Given the description of an element on the screen output the (x, y) to click on. 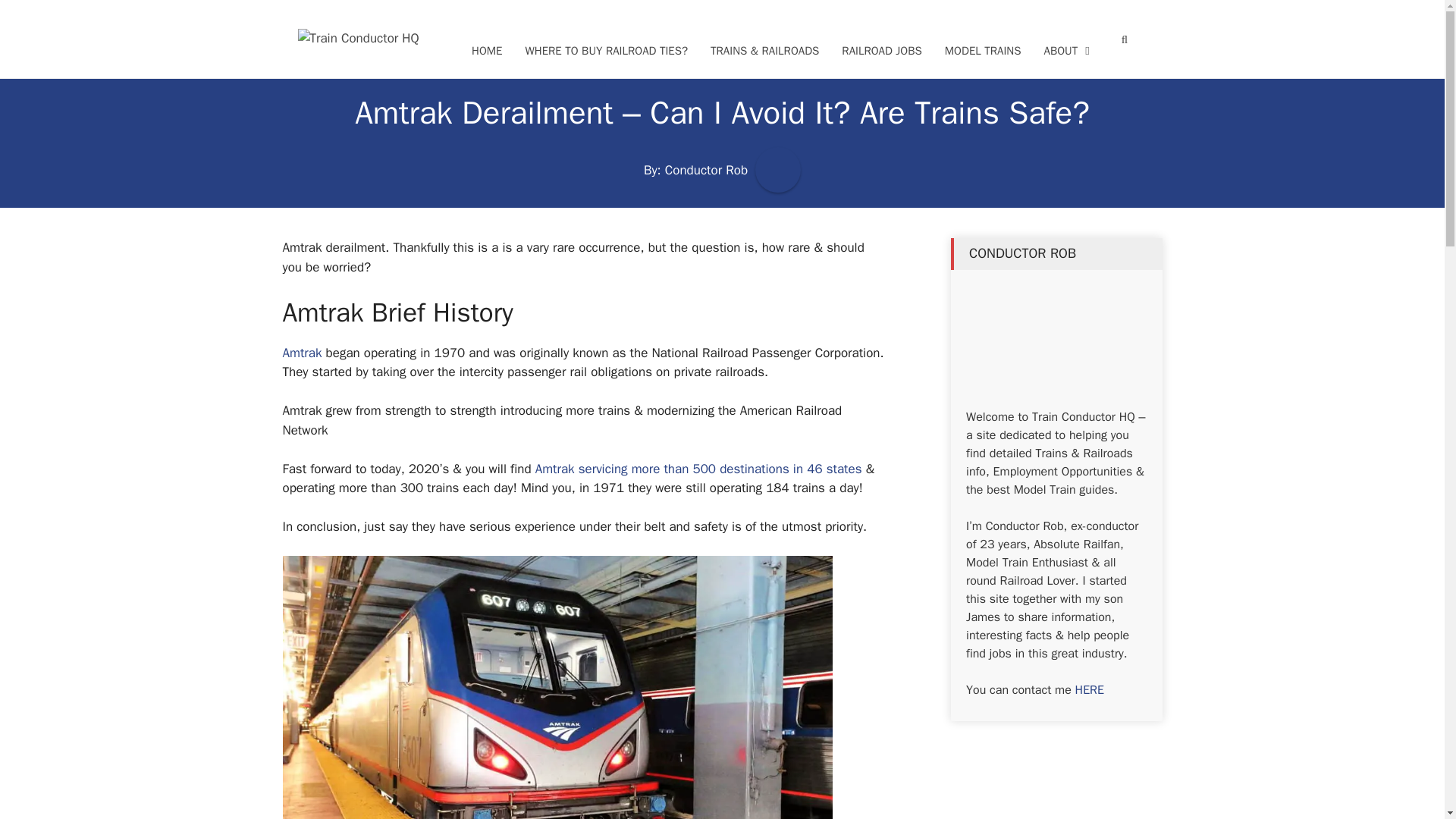
Amtrak (301, 352)
HERE (1089, 689)
RAILROAD JOBS (881, 50)
ABOUT (1067, 50)
WHERE TO BUY RAILROAD TIES? (605, 50)
Amtrak (301, 352)
MODEL TRAINS (982, 50)
Amtrak servicing more than 500 destinations in 46 states (698, 468)
